Given the description of an element on the screen output the (x, y) to click on. 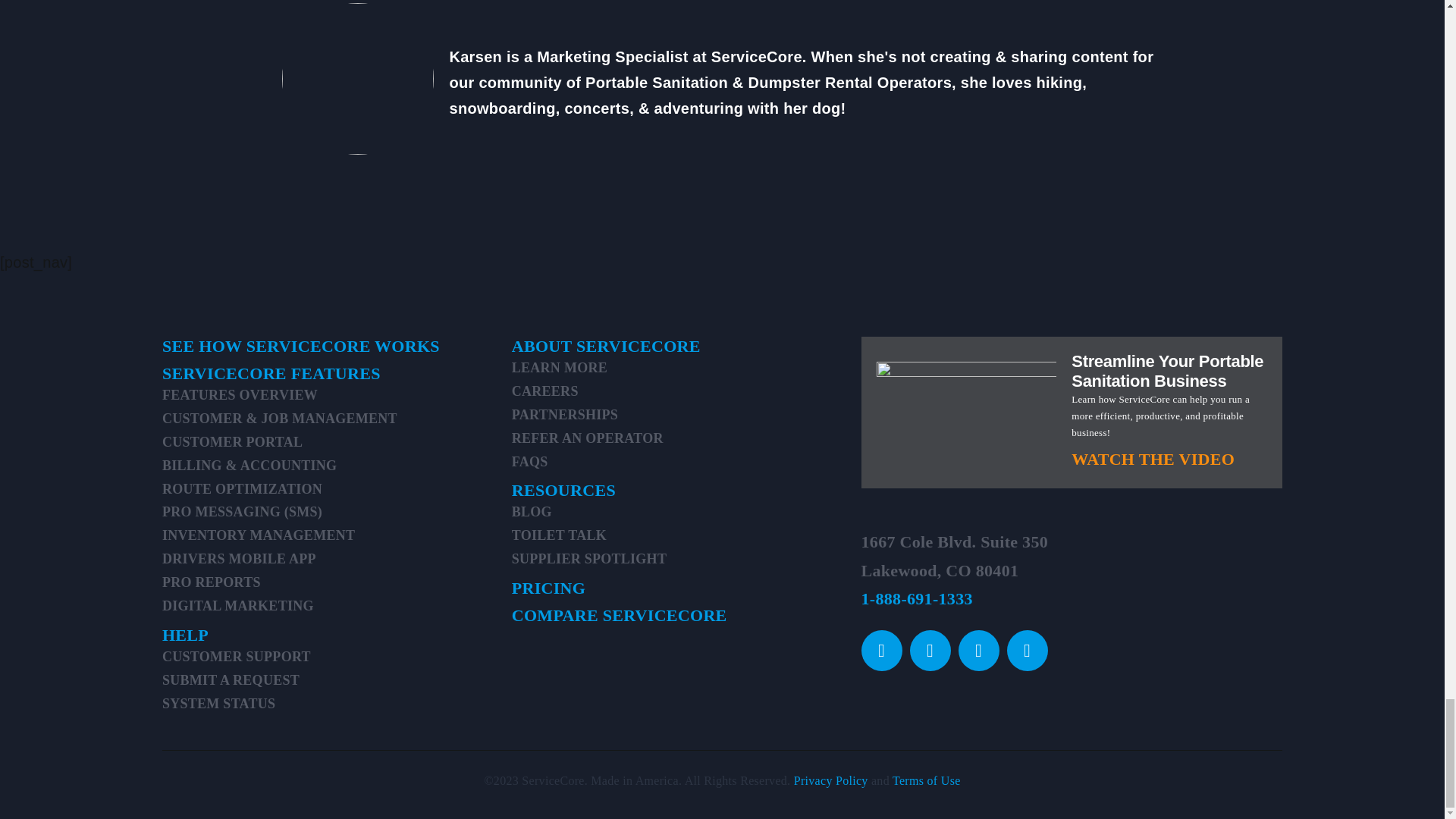
LinkedIn (1027, 649)
Facebook (881, 649)
Instagram (930, 649)
YouTube (978, 649)
